Given the description of an element on the screen output the (x, y) to click on. 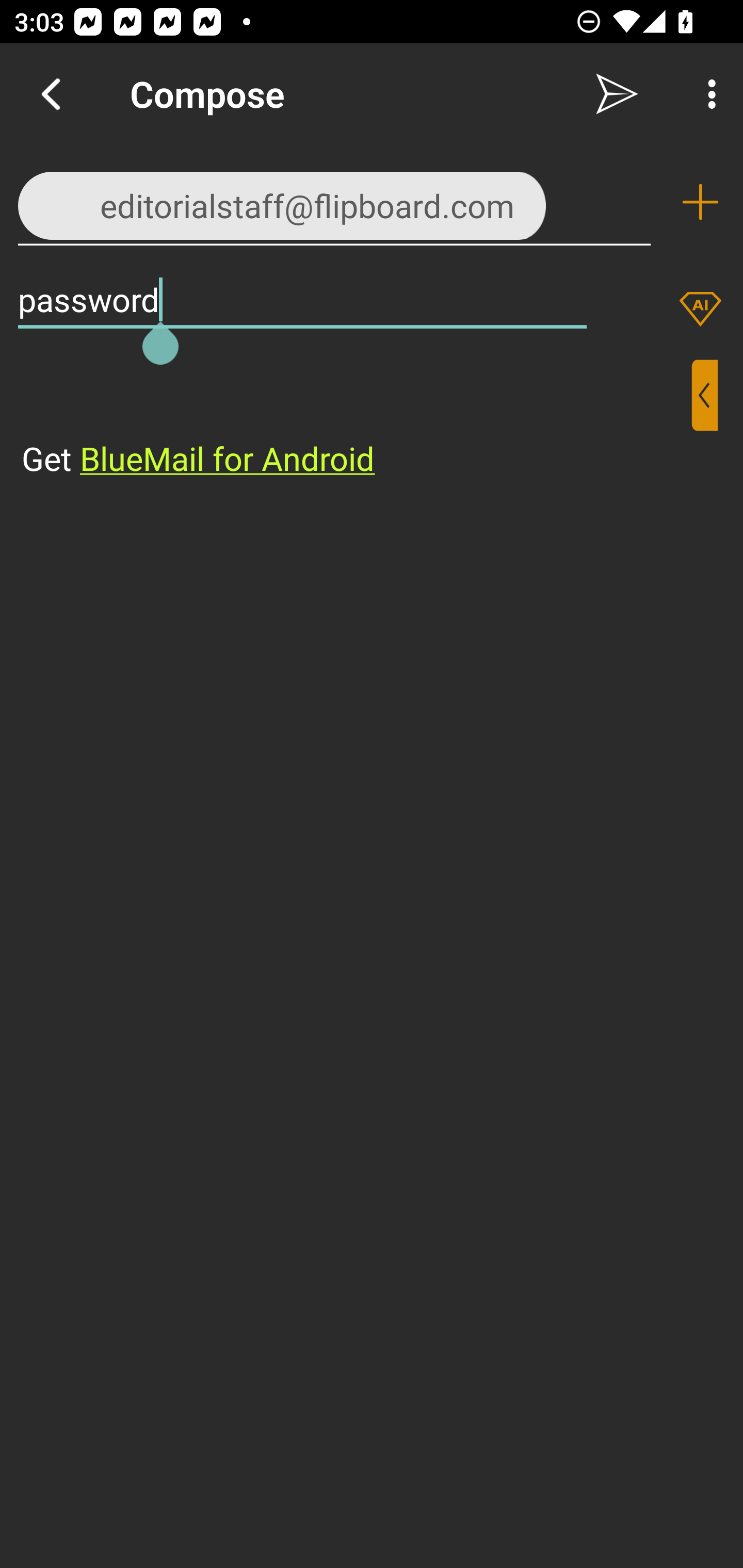
Navigate up (50, 93)
Send (616, 93)
More Options (706, 93)
<editorialstaff@flipboard.com>,  (334, 201)
Add recipient (To) (699, 201)
password (302, 299)


⁣Get BlueMail for Android ​ (355, 419)
